Given the description of an element on the screen output the (x, y) to click on. 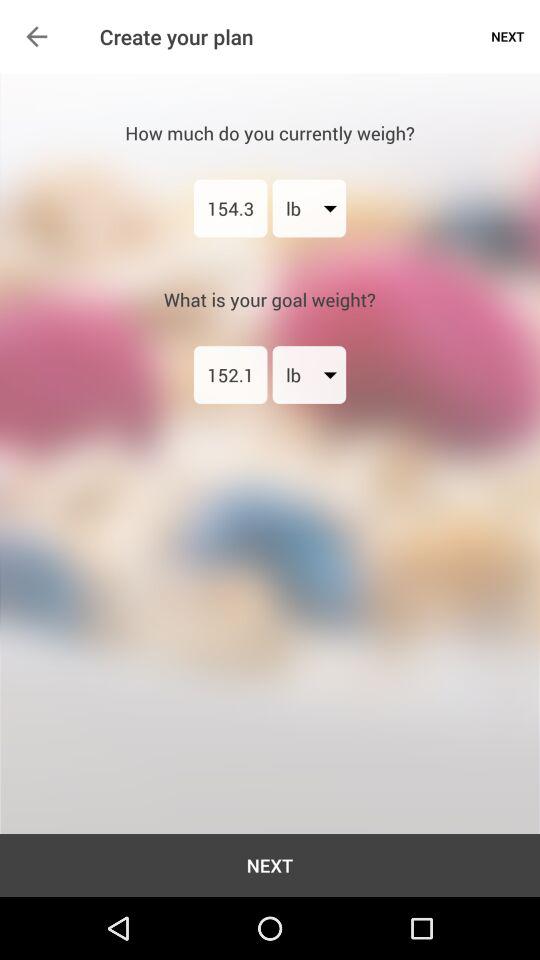
choose the icon next to lb icon (230, 374)
